Given the description of an element on the screen output the (x, y) to click on. 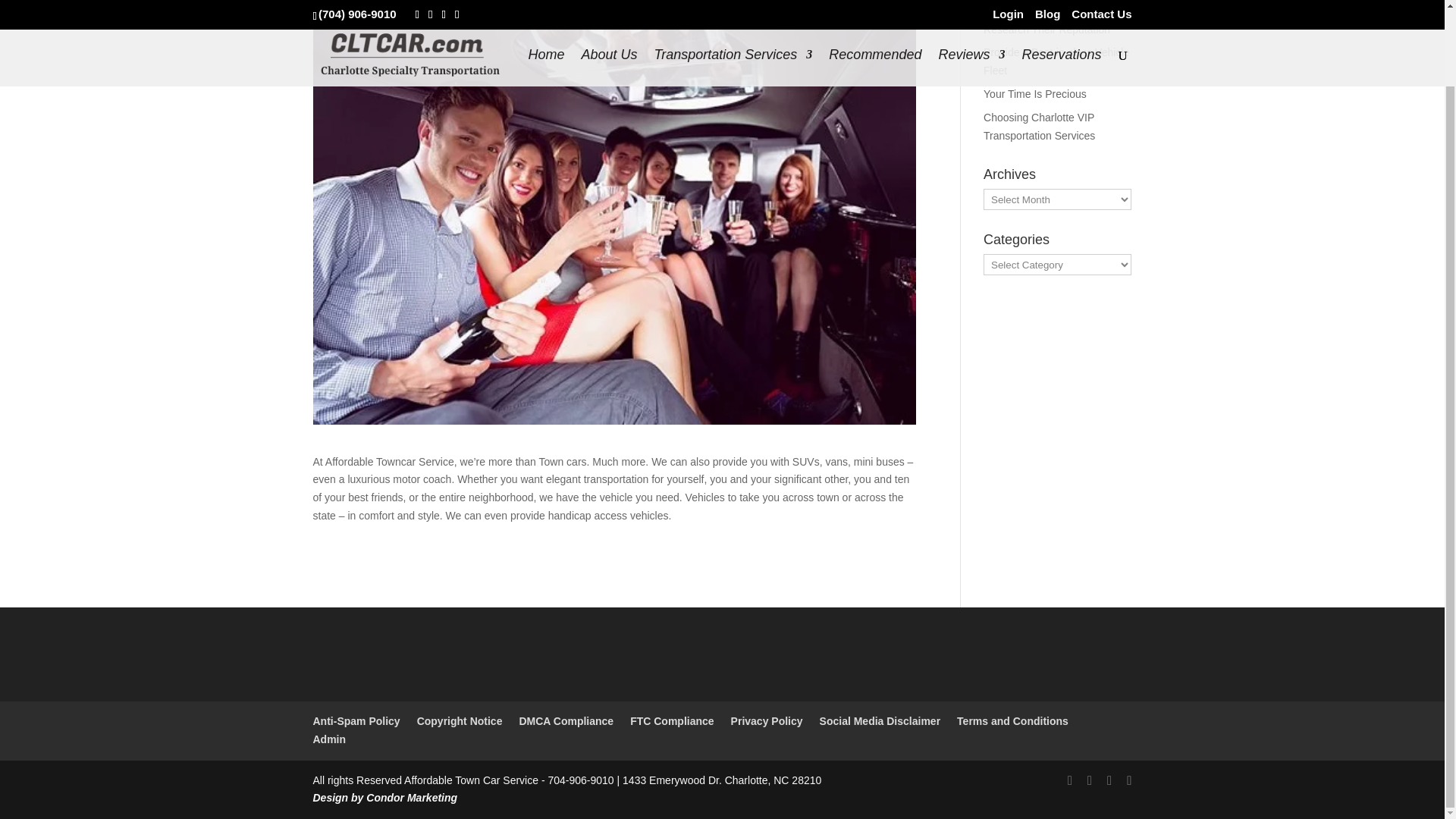
Corporate Travel With Affordable Town Car Service (1051, 6)
Your Time Is Precious (1035, 93)
Provide a Best-in-class Vehicle Fleet (1056, 60)
Reviews (970, 0)
Anti-Spam Policy (355, 720)
Terms and Conditions (1012, 720)
Choosing Charlotte VIP Transportation Services (1039, 126)
Design and SEO by Condor Marketing (385, 797)
DMCA Compliance (565, 720)
Copyright Notice (459, 720)
Research Their Reputation (1046, 29)
FTC Compliance (671, 720)
